Given the description of an element on the screen output the (x, y) to click on. 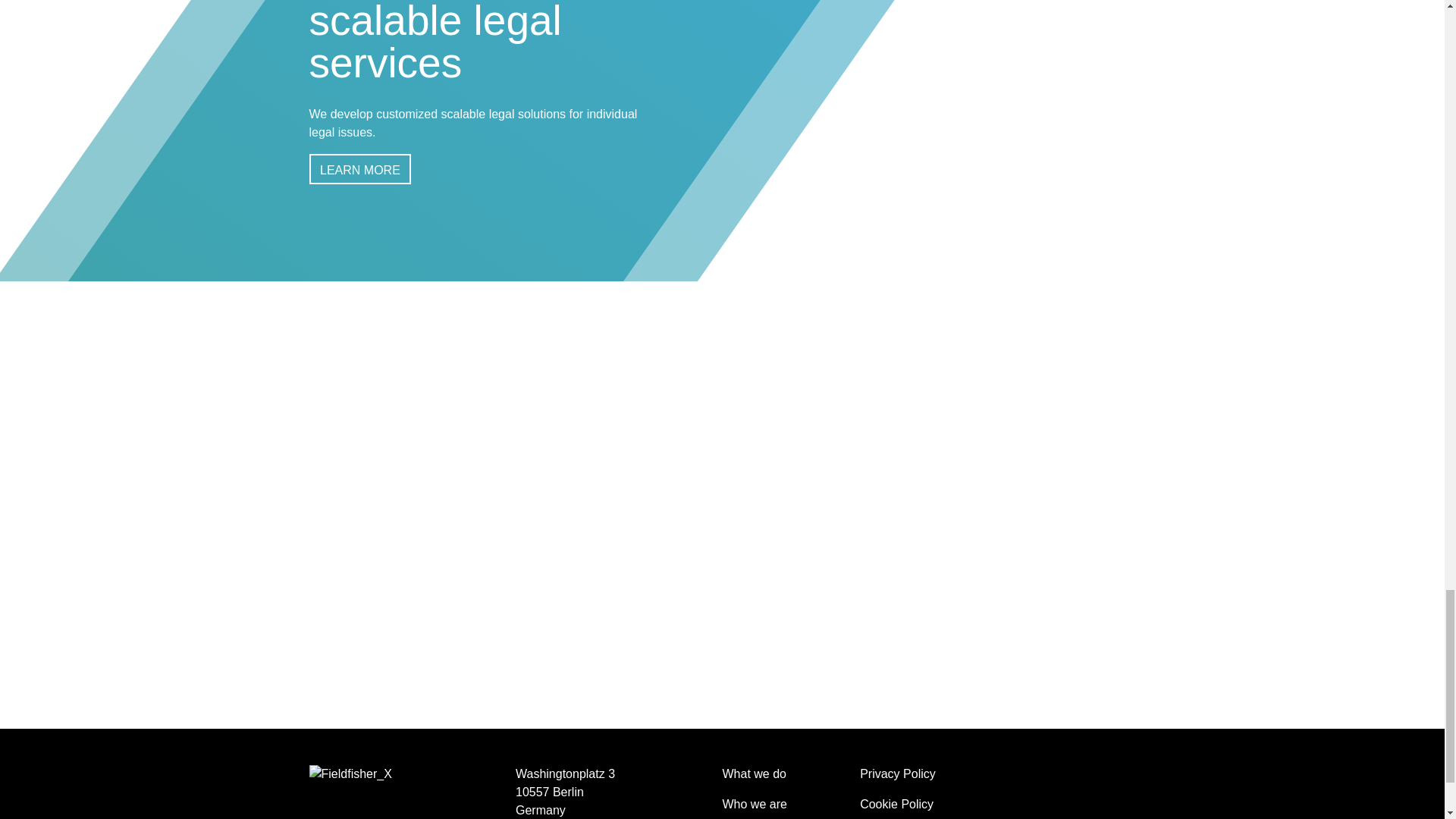
Who we are (754, 804)
Cookie Policy (896, 804)
What we do (754, 773)
LEARN MORE (359, 168)
Privacy Policy (898, 773)
